Given the description of an element on the screen output the (x, y) to click on. 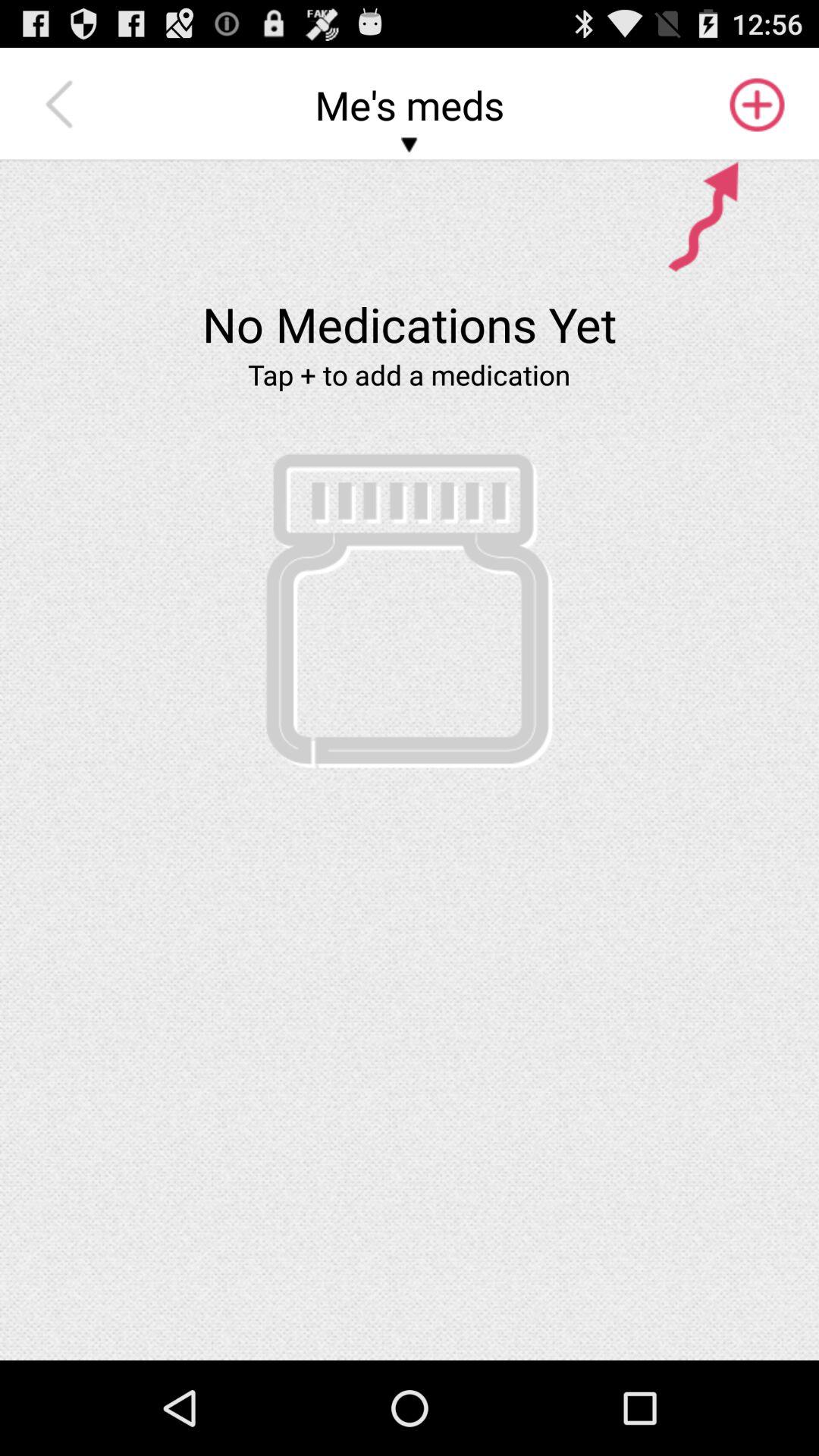
select the icon to the right of me's meds (755, 104)
